Given the description of an element on the screen output the (x, y) to click on. 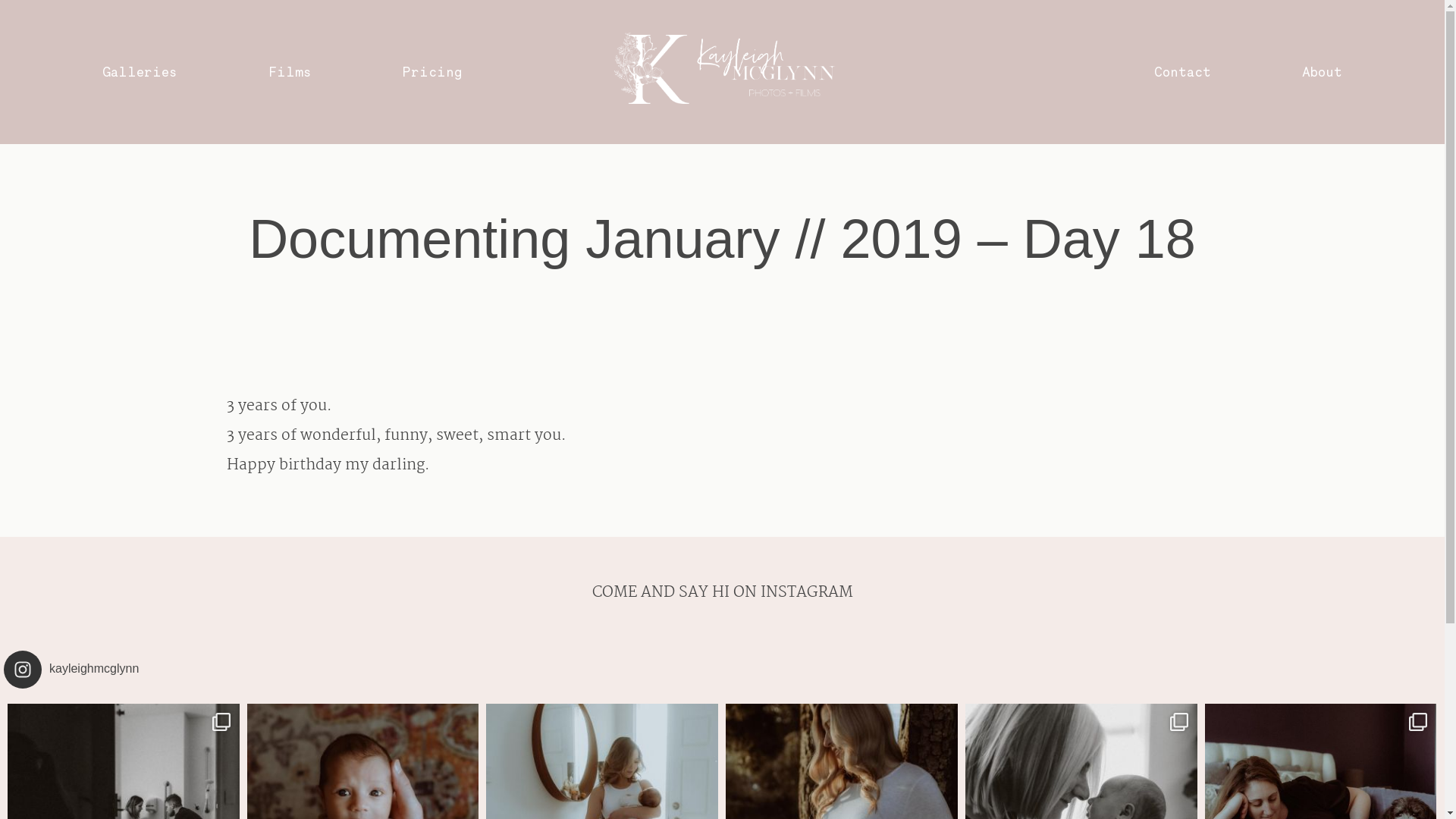
Galleries Element type: text (139, 71)
Films Element type: text (289, 71)
About Element type: text (1322, 71)
Pricing Element type: text (432, 71)
kayleighmcglynn Element type: text (721, 669)
Contact Element type: text (1182, 71)
